Given the description of an element on the screen output the (x, y) to click on. 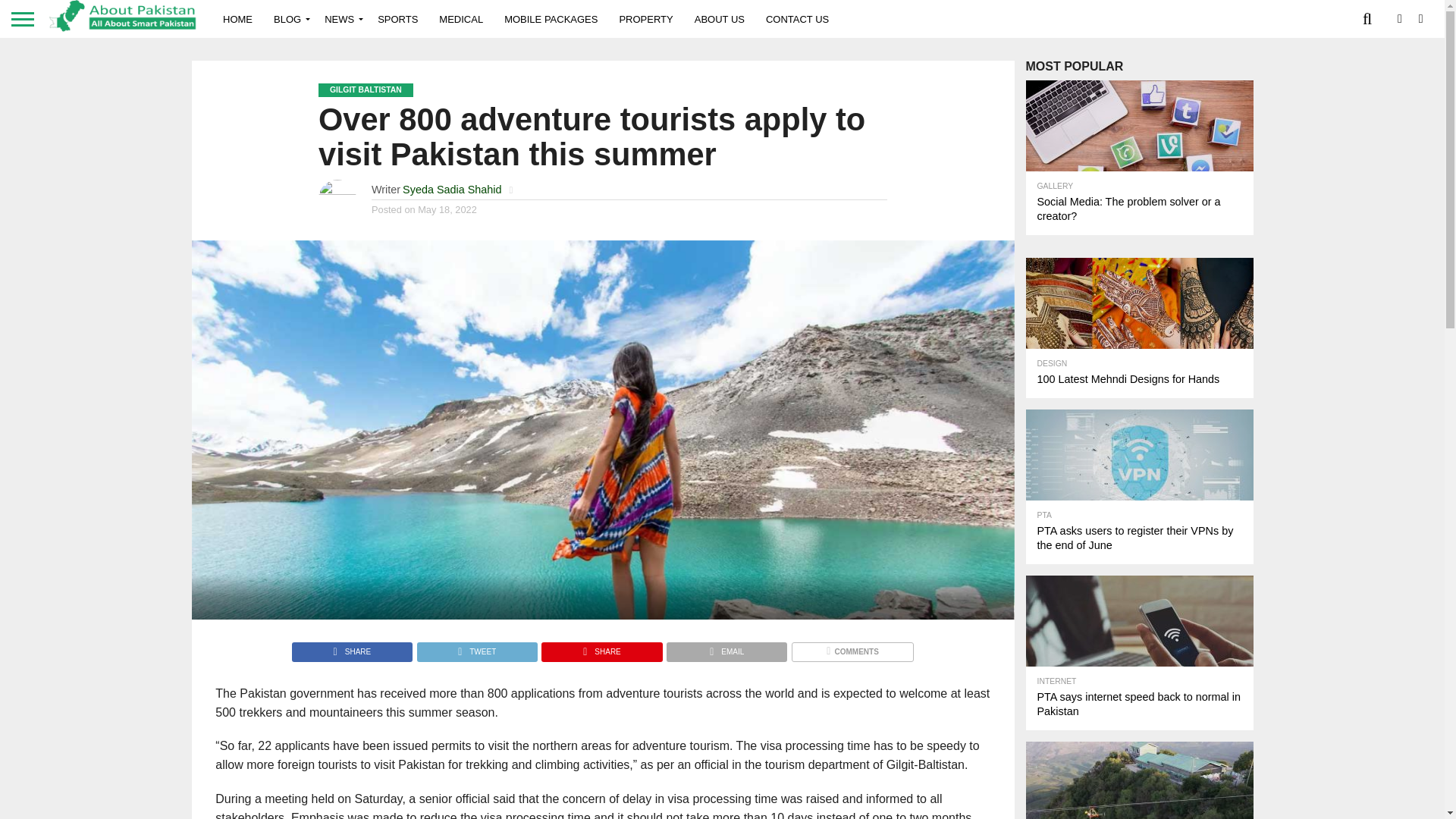
BLOG (288, 18)
Tweet This Post (476, 647)
Pin This Post (601, 647)
Share on Facebook (352, 647)
Posts by Syeda Sadia Shahid (451, 189)
HOME (237, 18)
